Given the description of an element on the screen output the (x, y) to click on. 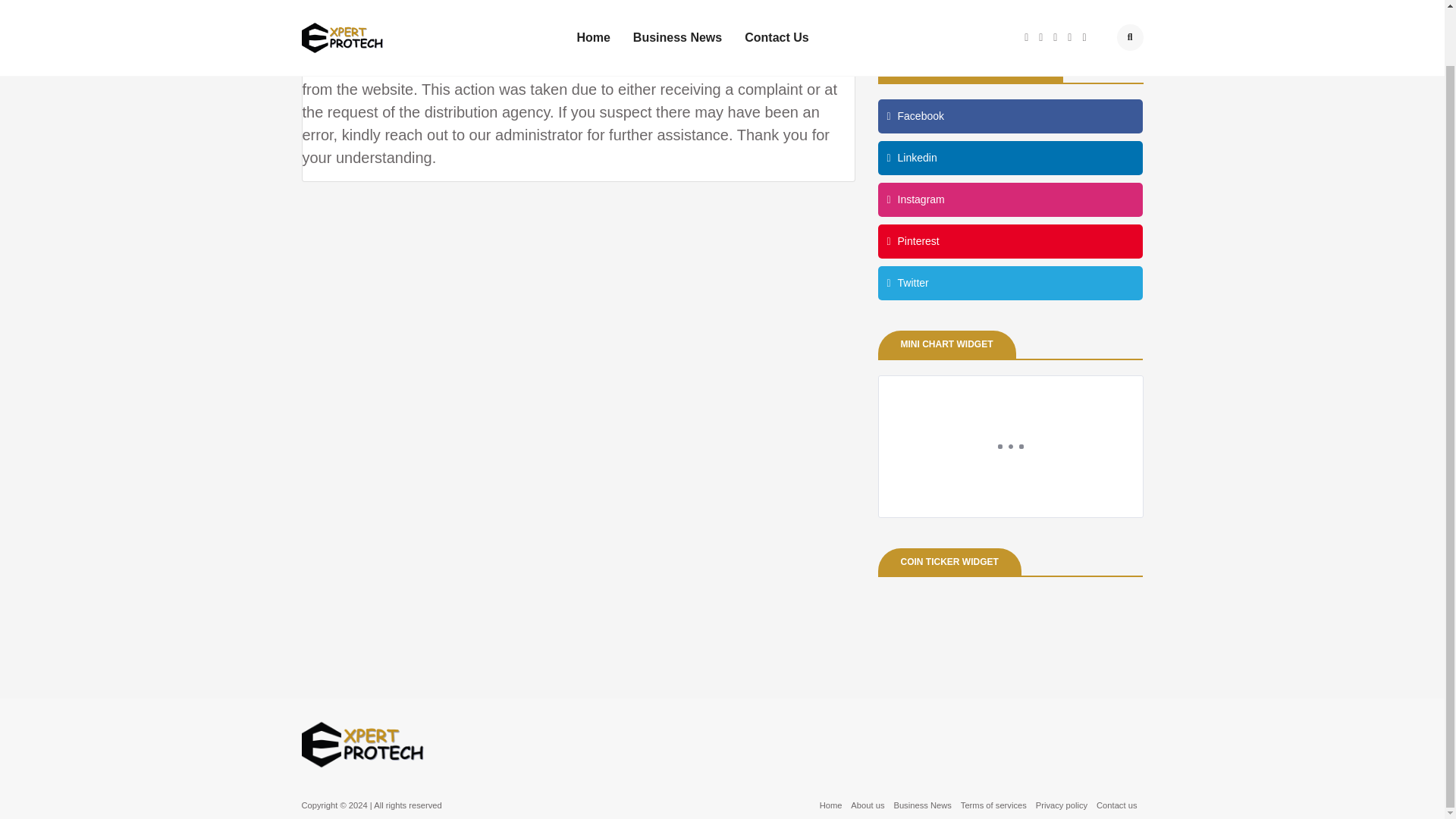
Linkedin (1009, 157)
Instagram (1009, 199)
About us (866, 804)
Twitter (1009, 283)
Home (831, 804)
Pinterest (1009, 241)
Privacy policy (1061, 804)
Facebook (1009, 116)
mini symbol-overview TradingView widget (1009, 446)
Terms of services (993, 804)
Contact us (1116, 804)
Business News (921, 804)
